Given the description of an element on the screen output the (x, y) to click on. 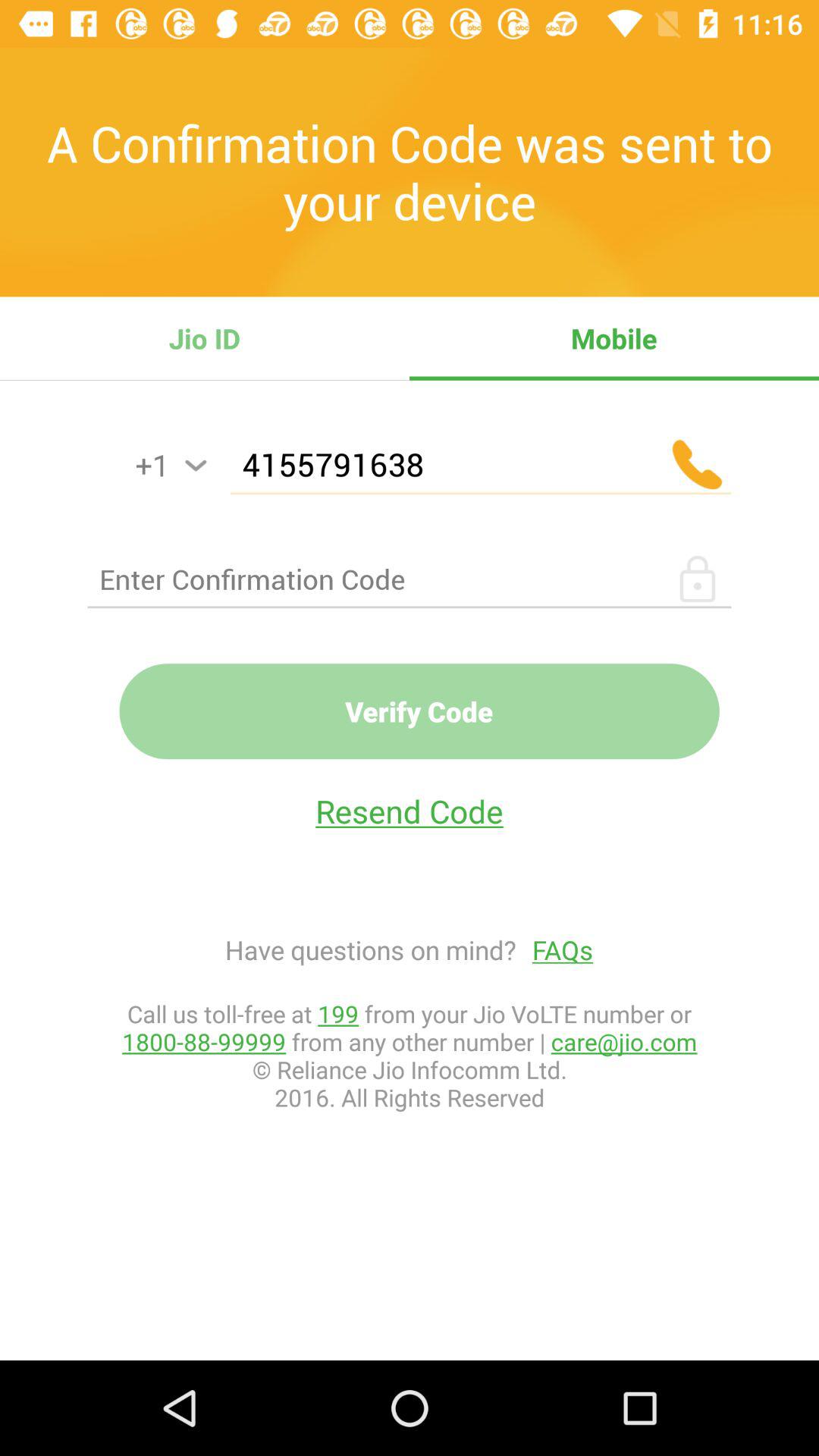
turn on item on the right (554, 949)
